Given the description of an element on the screen output the (x, y) to click on. 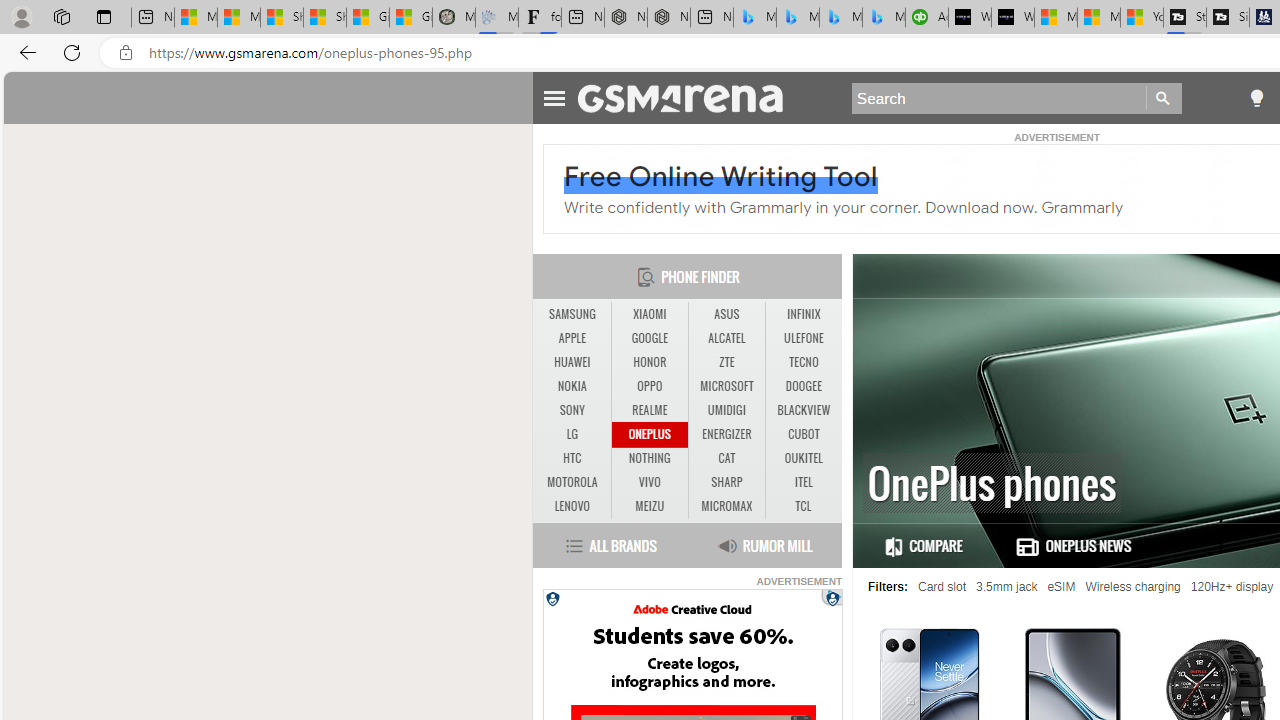
MEIZU (649, 506)
CUBOT (803, 434)
APPLE (571, 338)
ENERGIZER (726, 434)
OUKITEL (803, 458)
Class: qc-adchoices-icon (833, 596)
SONY (571, 410)
TCL (803, 506)
HTC (571, 457)
ZTE (726, 362)
ALCATEL (726, 339)
DOOGEE (803, 386)
SAMSUNG (571, 314)
